Given the description of an element on the screen output the (x, y) to click on. 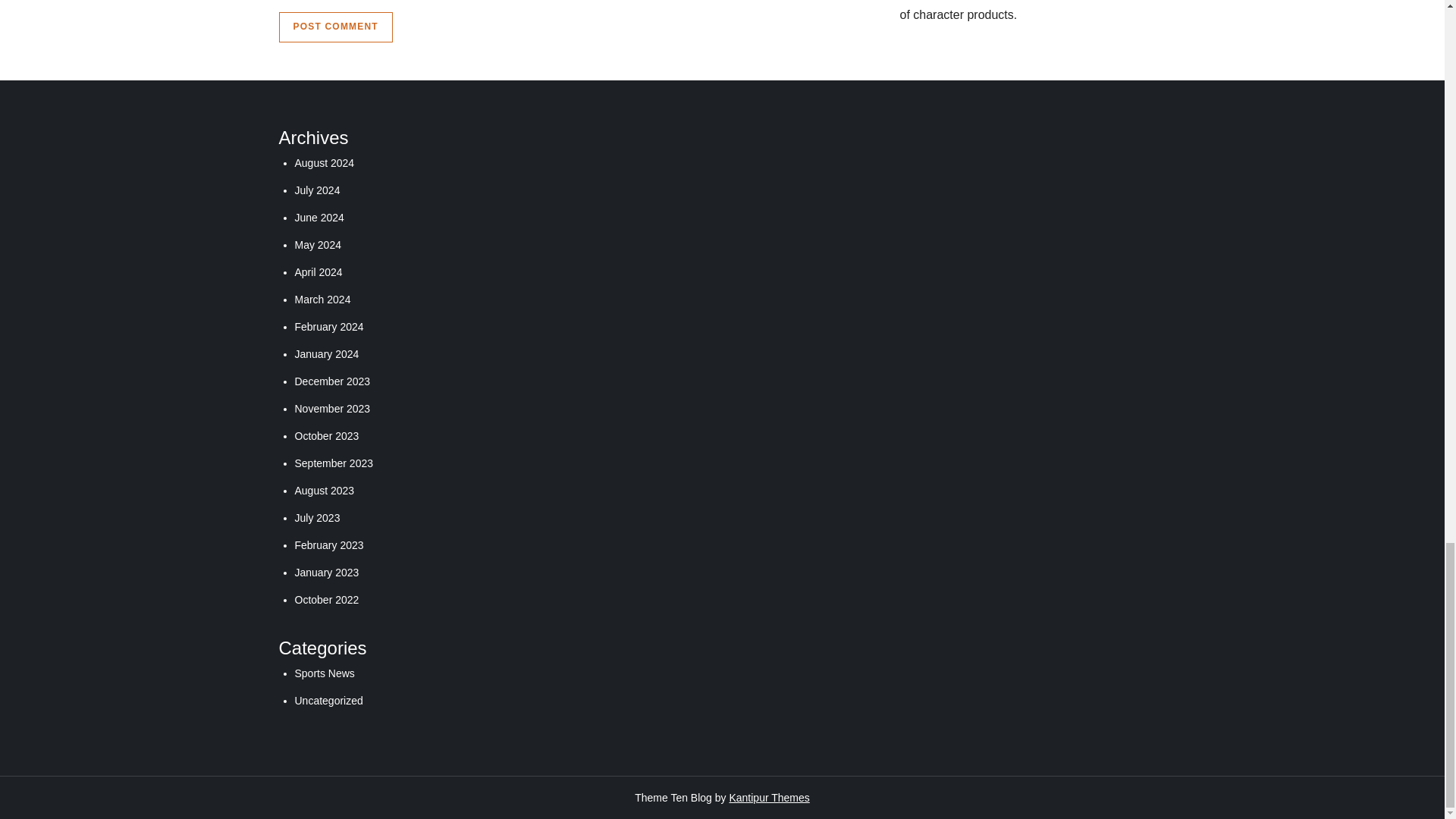
January 2024 (326, 354)
June 2024 (318, 217)
Post Comment (336, 27)
March 2024 (322, 299)
Post Comment (336, 27)
February 2024 (328, 326)
July 2024 (316, 190)
April 2024 (318, 272)
October 2023 (326, 435)
May 2024 (317, 244)
